Given the description of an element on the screen output the (x, y) to click on. 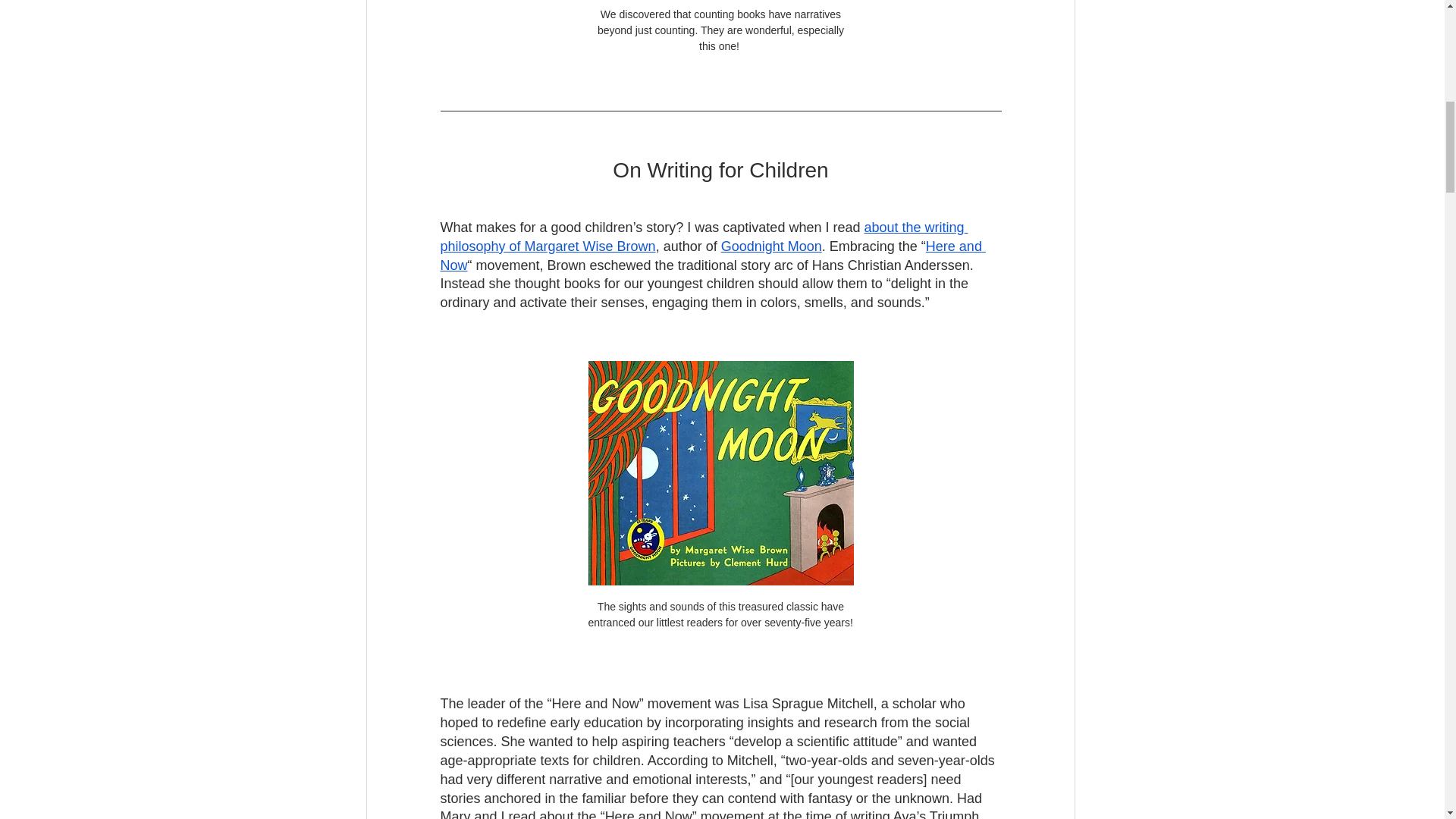
Here and Now (712, 255)
Goodnight Moon (770, 246)
about the writing philosophy of Margaret Wise Brown (703, 236)
